Given the description of an element on the screen output the (x, y) to click on. 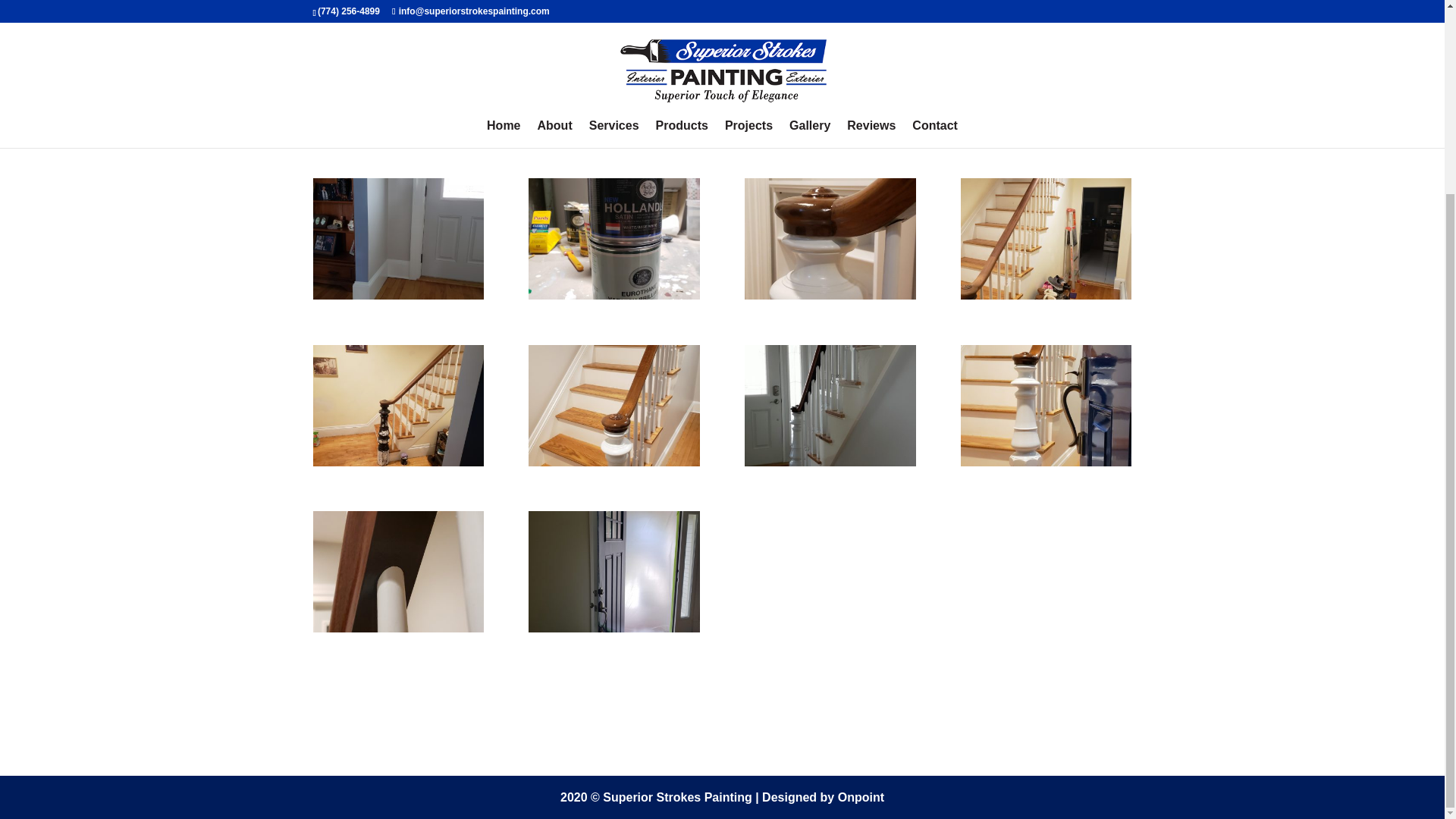
Designed by Onpoint (822, 797)
